Given the description of an element on the screen output the (x, y) to click on. 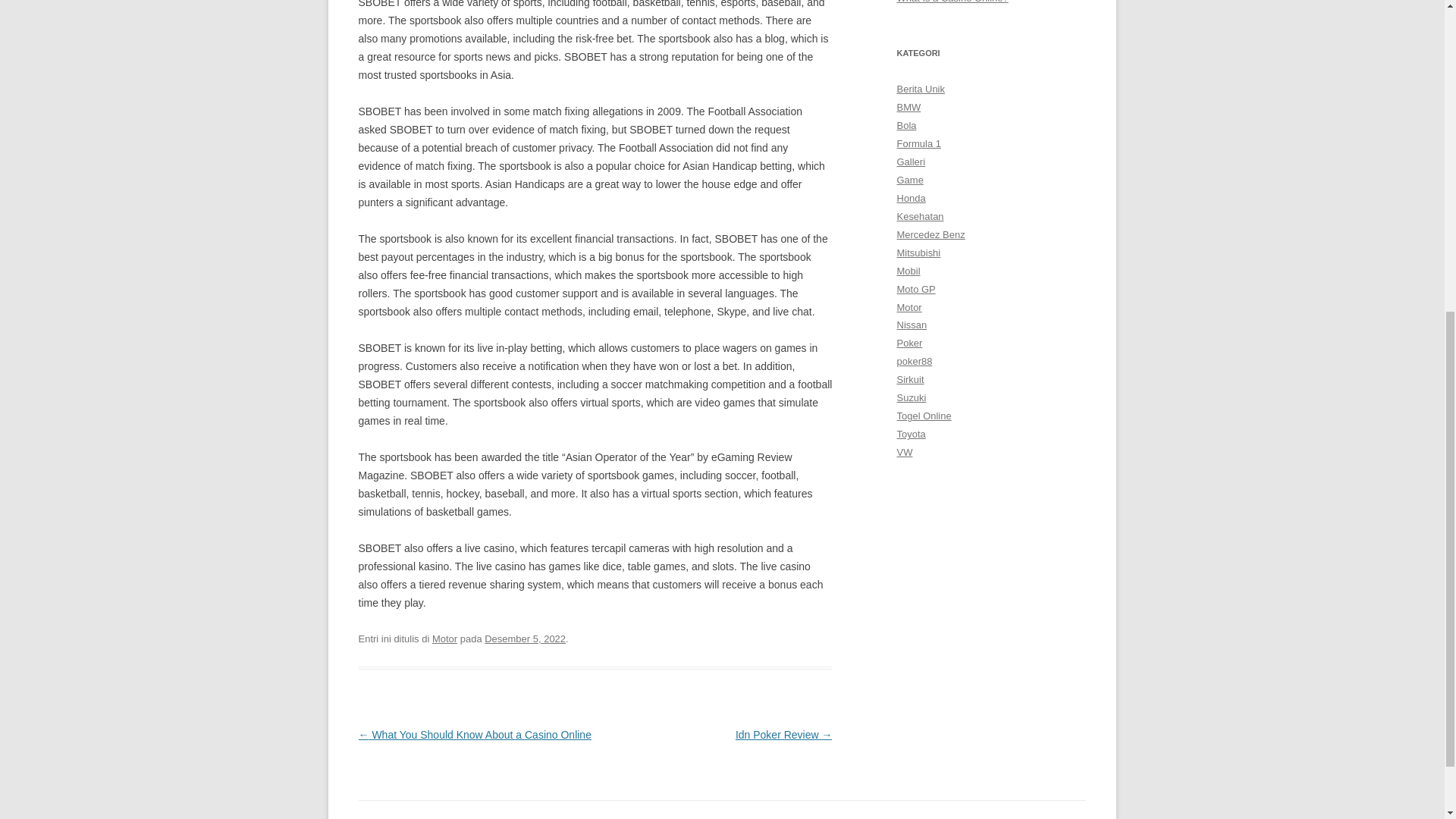
Formula 1 (918, 143)
keluaran terbaru mobil honda (910, 197)
Bola (905, 125)
galeri mobil-mobil mewah di dunia (910, 161)
Galleri (910, 161)
mobil mewah mercedes benz (929, 234)
BMW (908, 107)
What Is a Casino Online? (951, 2)
9:21 am (525, 638)
Desember 5, 2022 (525, 638)
Berita Unik (920, 89)
mobil bmw yang beredar dipasaran (908, 107)
mobil mitsubishi (918, 252)
balap formula 1 (918, 143)
Motor (444, 638)
